Given the description of an element on the screen output the (x, y) to click on. 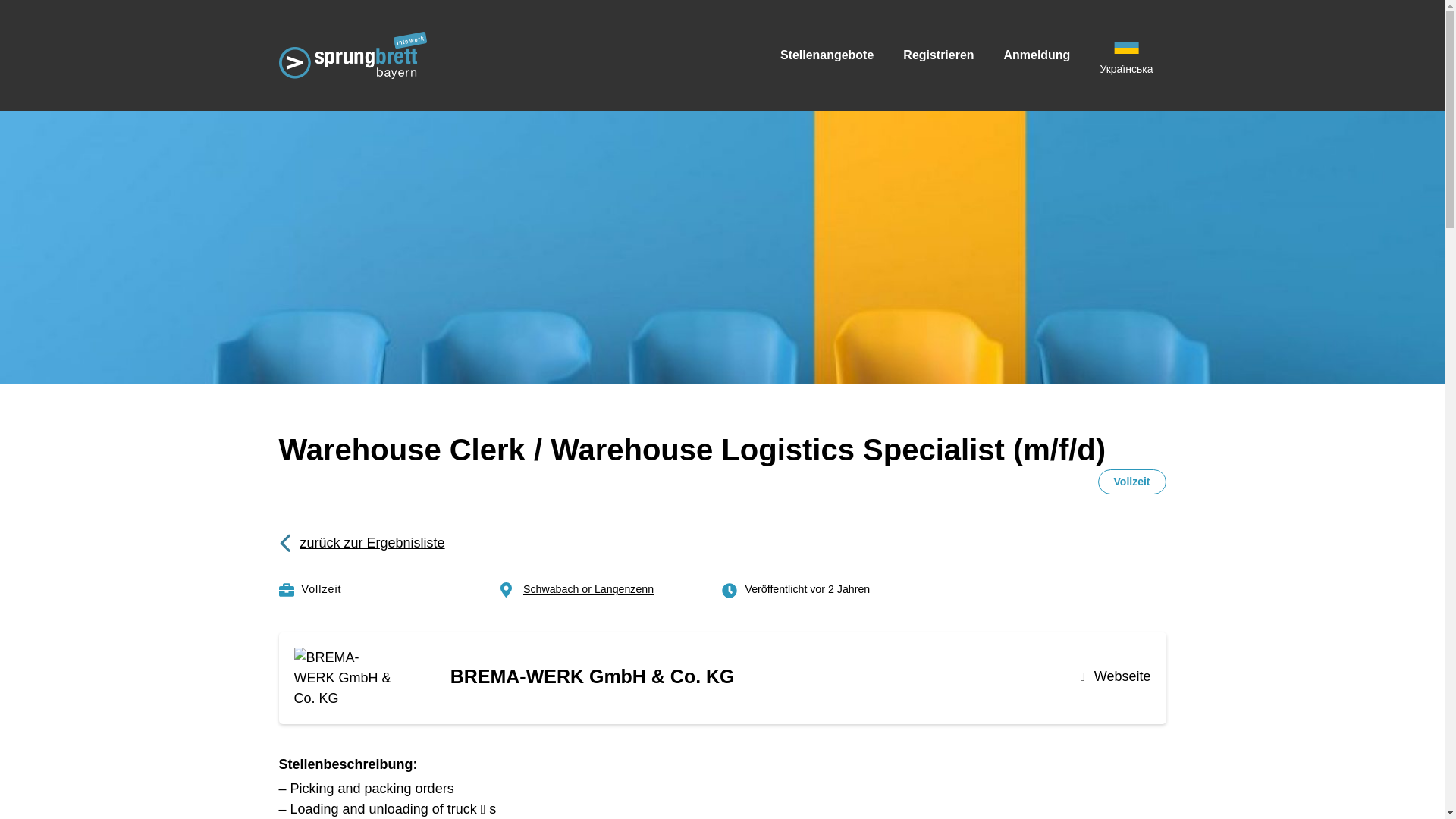
sprungbrett into work Ukraine (593, 68)
Webseite (1115, 676)
Anmeldung (1037, 54)
Stellenangebote (826, 54)
Registrieren (938, 54)
Schwabach or Langenzenn (587, 589)
